Given the description of an element on the screen output the (x, y) to click on. 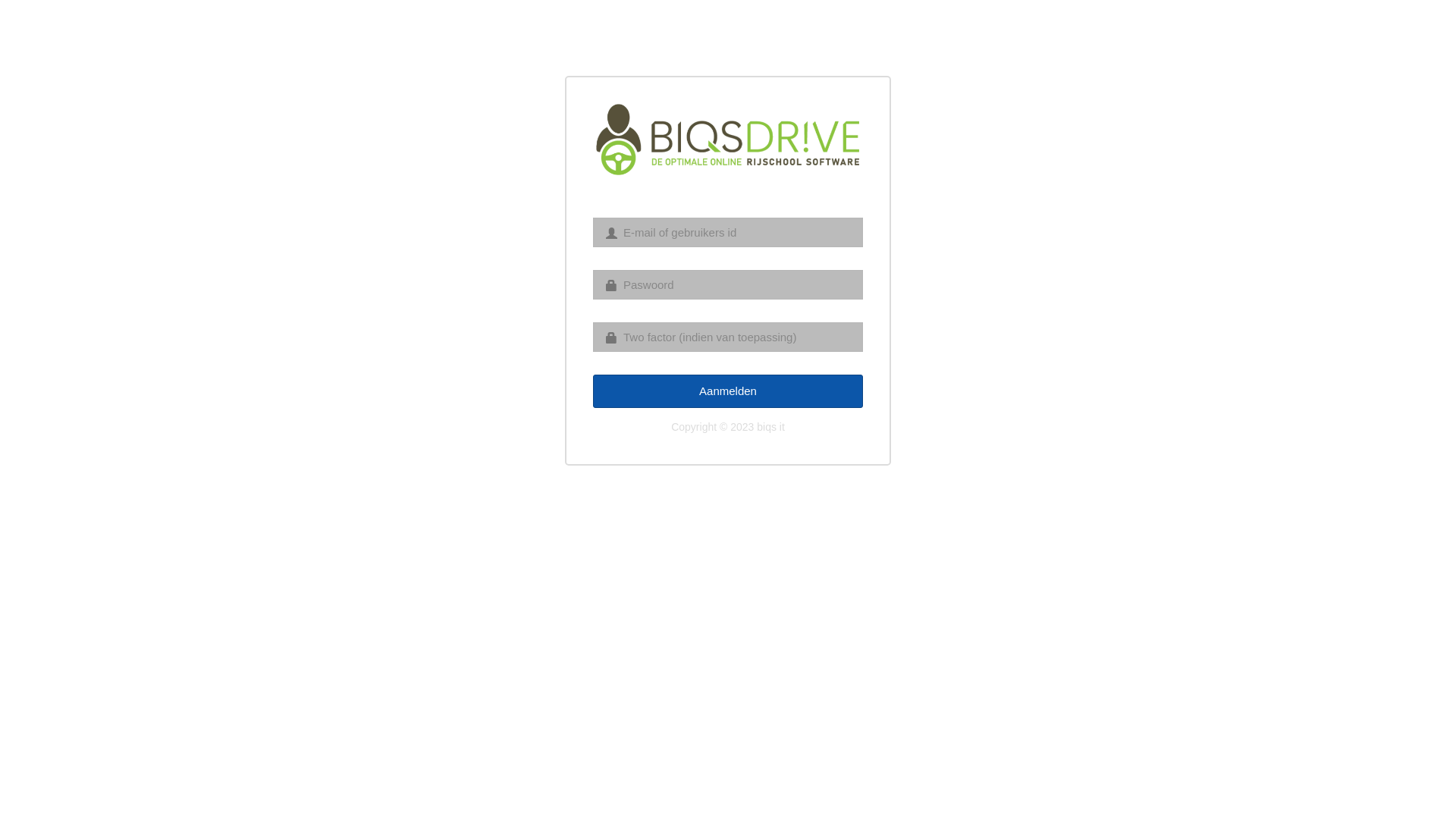
Aanmelden Element type: text (727, 390)
